Given the description of an element on the screen output the (x, y) to click on. 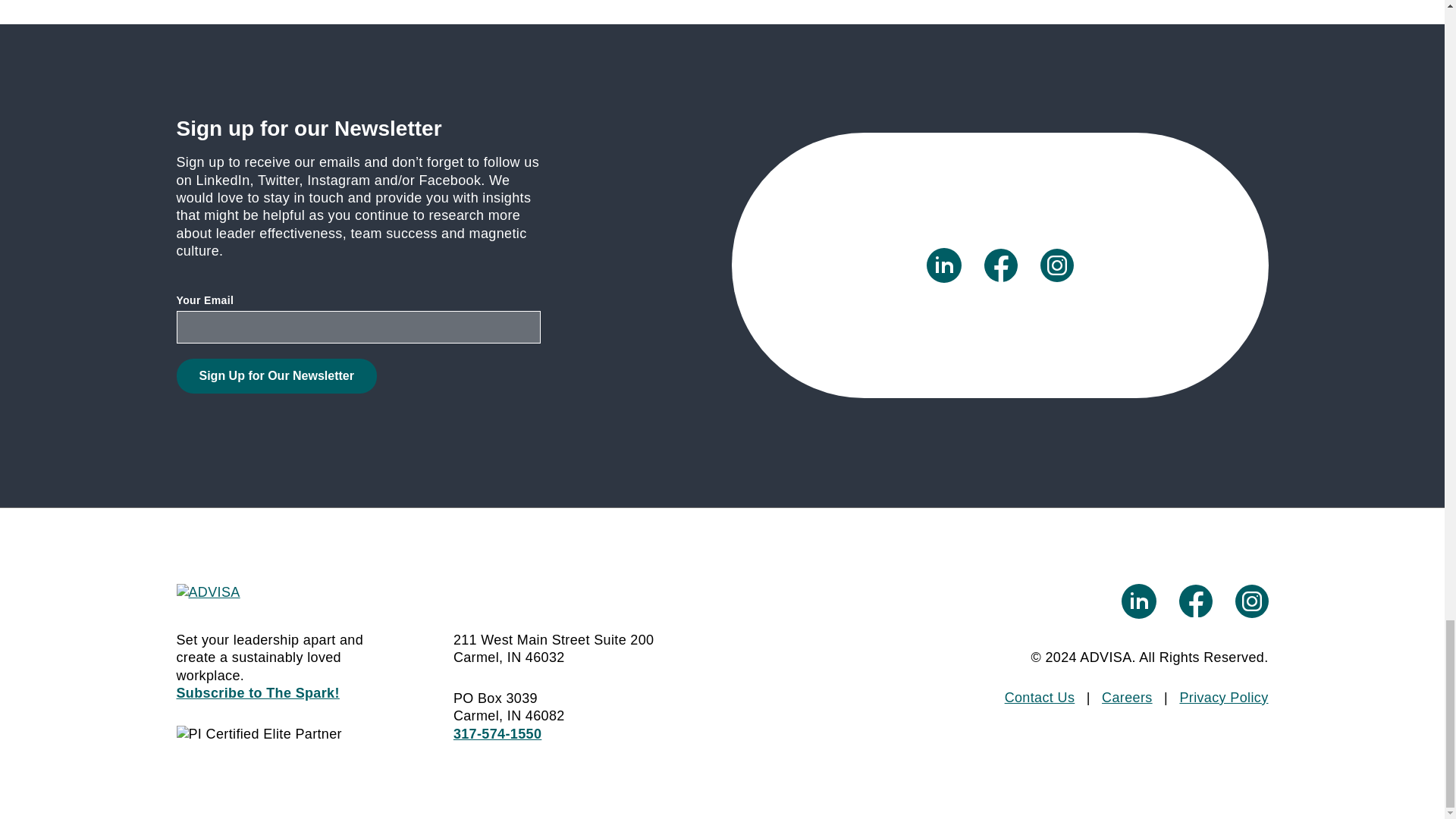
LinkedIn (943, 265)
Sign Up for Our Newsletter (275, 375)
Sign Up for Our Newsletter (275, 375)
